Given the description of an element on the screen output the (x, y) to click on. 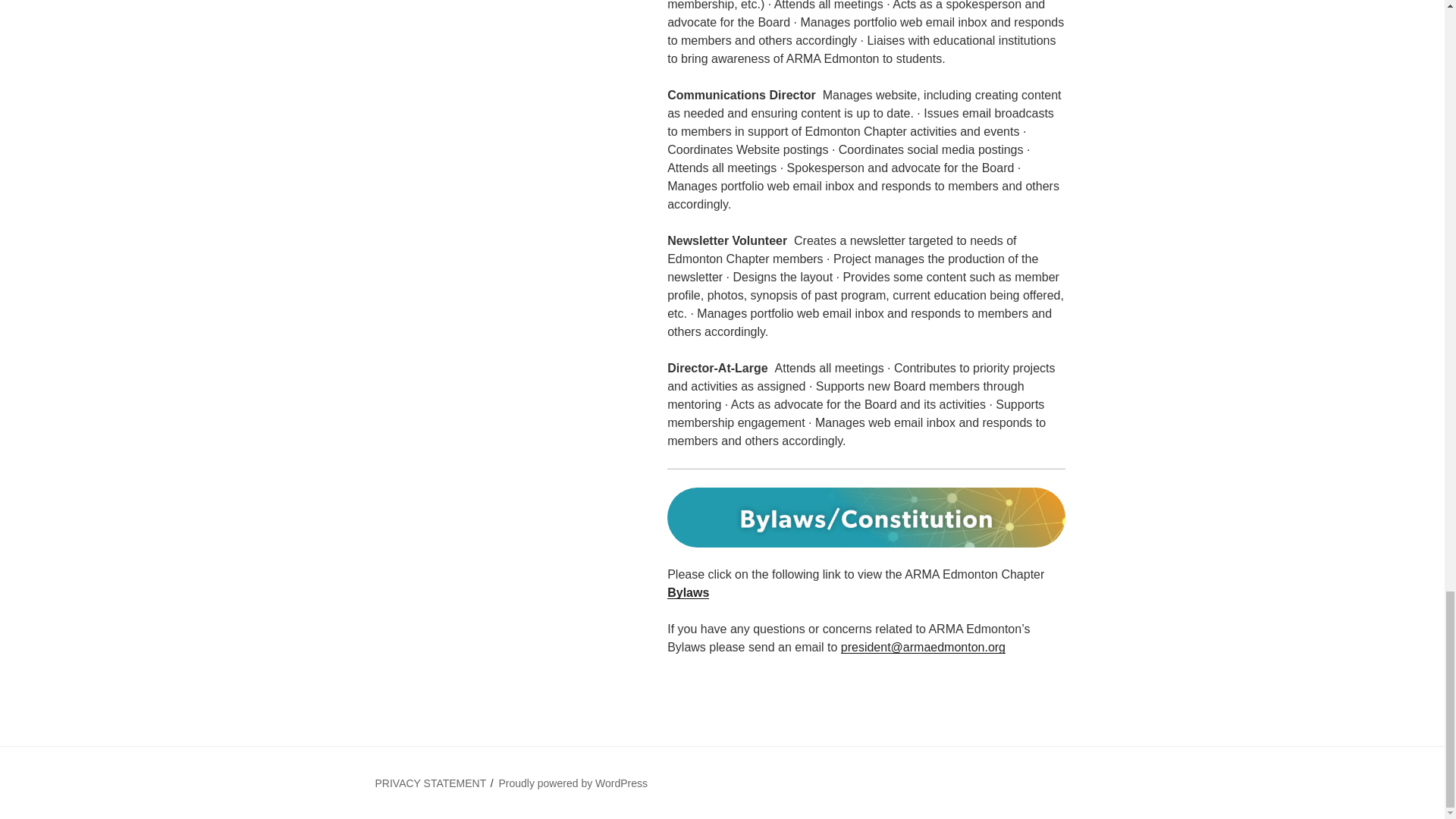
Bylaws (687, 592)
Proudly powered by WordPress (572, 783)
PRIVACY STATEMENT (430, 783)
